Given the description of an element on the screen output the (x, y) to click on. 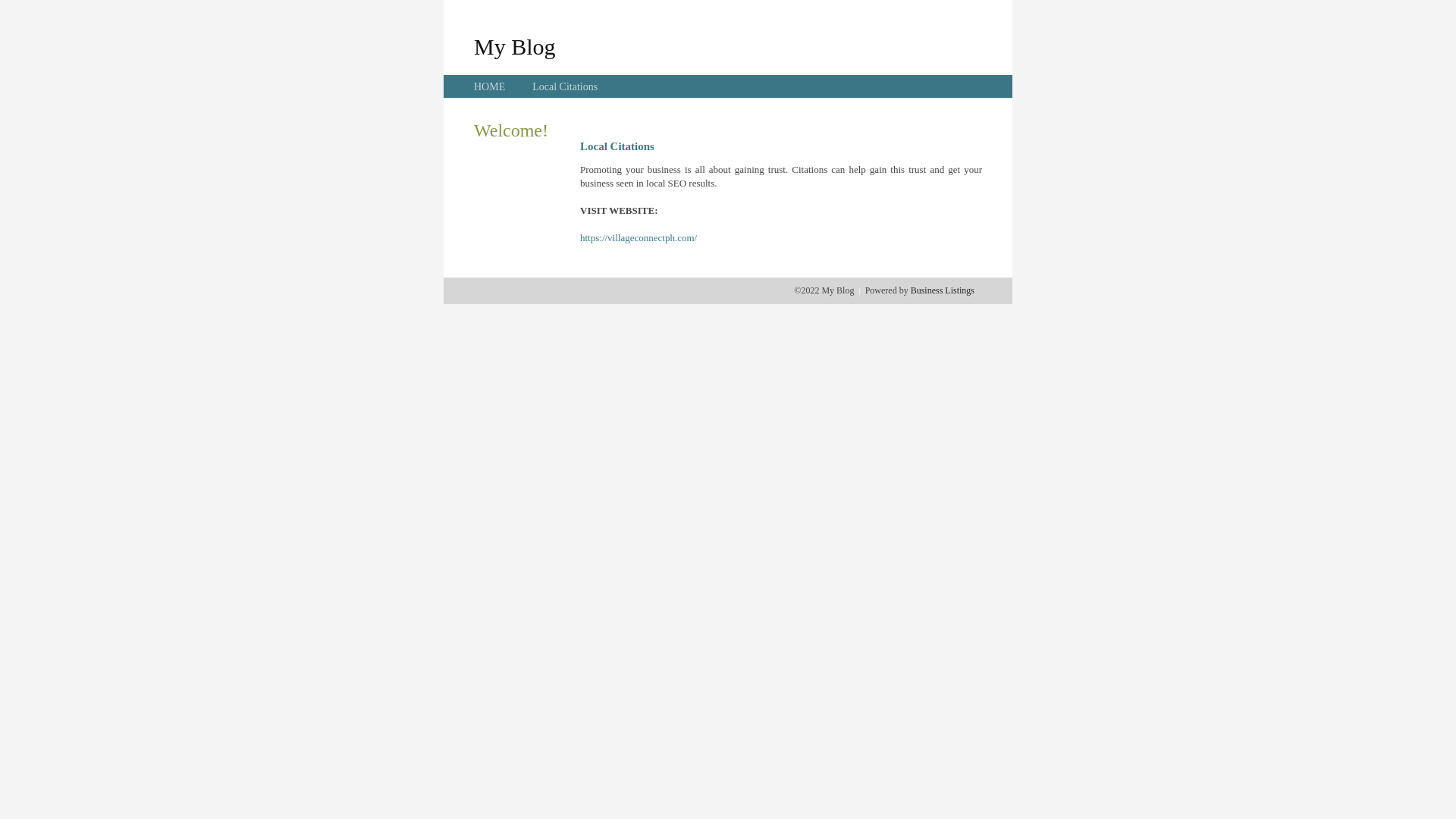
Local Citations Element type: text (564, 86)
My Blog Element type: text (514, 46)
Business Listings Element type: text (942, 290)
https://villageconnectph.com/ Element type: text (638, 237)
HOME Element type: text (489, 86)
